Given the description of an element on the screen output the (x, y) to click on. 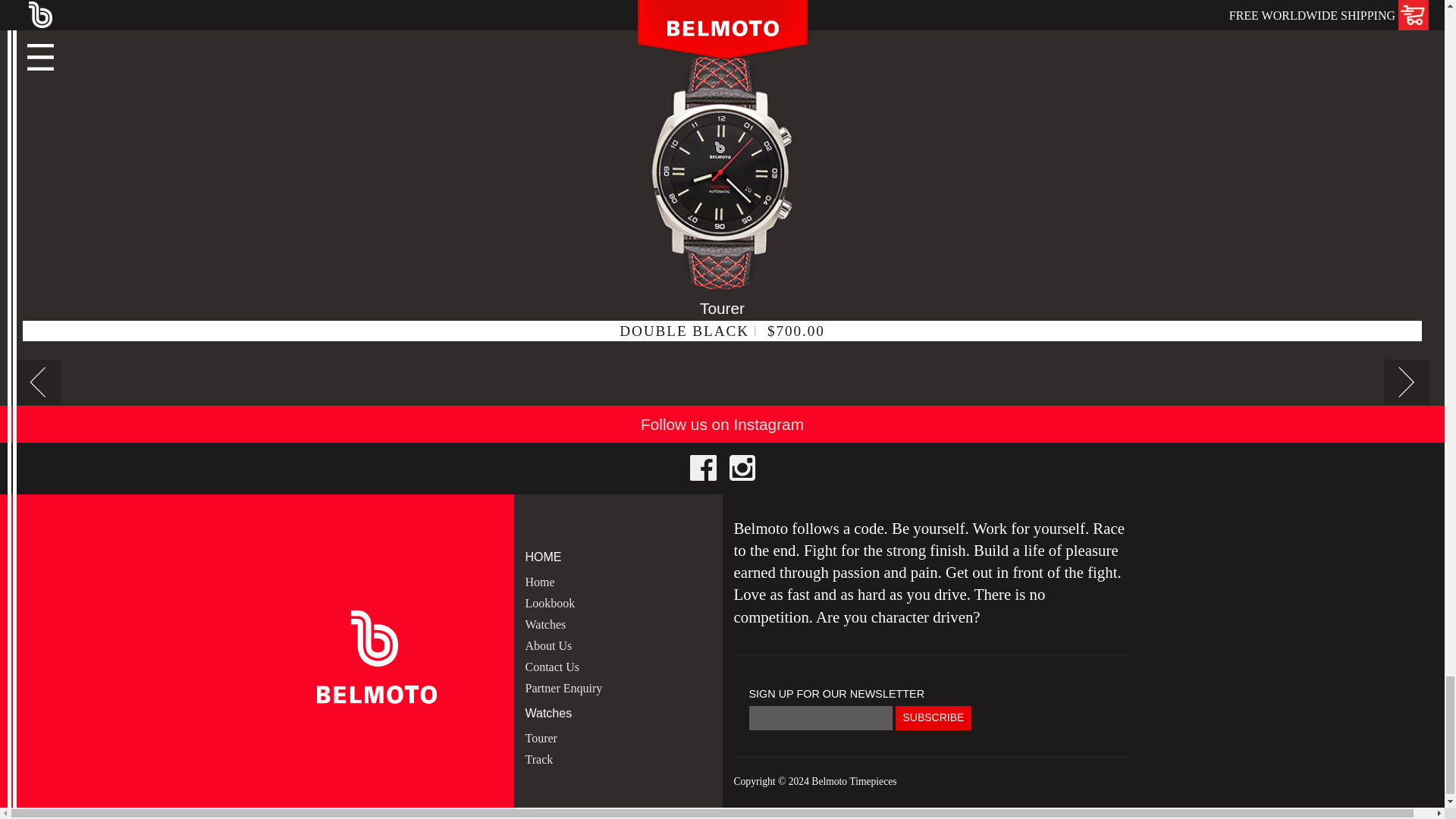
About Us (548, 645)
Lookbook (549, 603)
SUBSCRIBE (933, 717)
Partner Enquiry (563, 687)
Watches (617, 713)
Home (539, 581)
HOME (617, 556)
Home (539, 581)
Track (538, 758)
Tourer (540, 738)
Lookbook (549, 603)
Follow us on Instagram (721, 424)
Watches (545, 624)
Watches (545, 624)
Contact Us (551, 666)
